Given the description of an element on the screen output the (x, y) to click on. 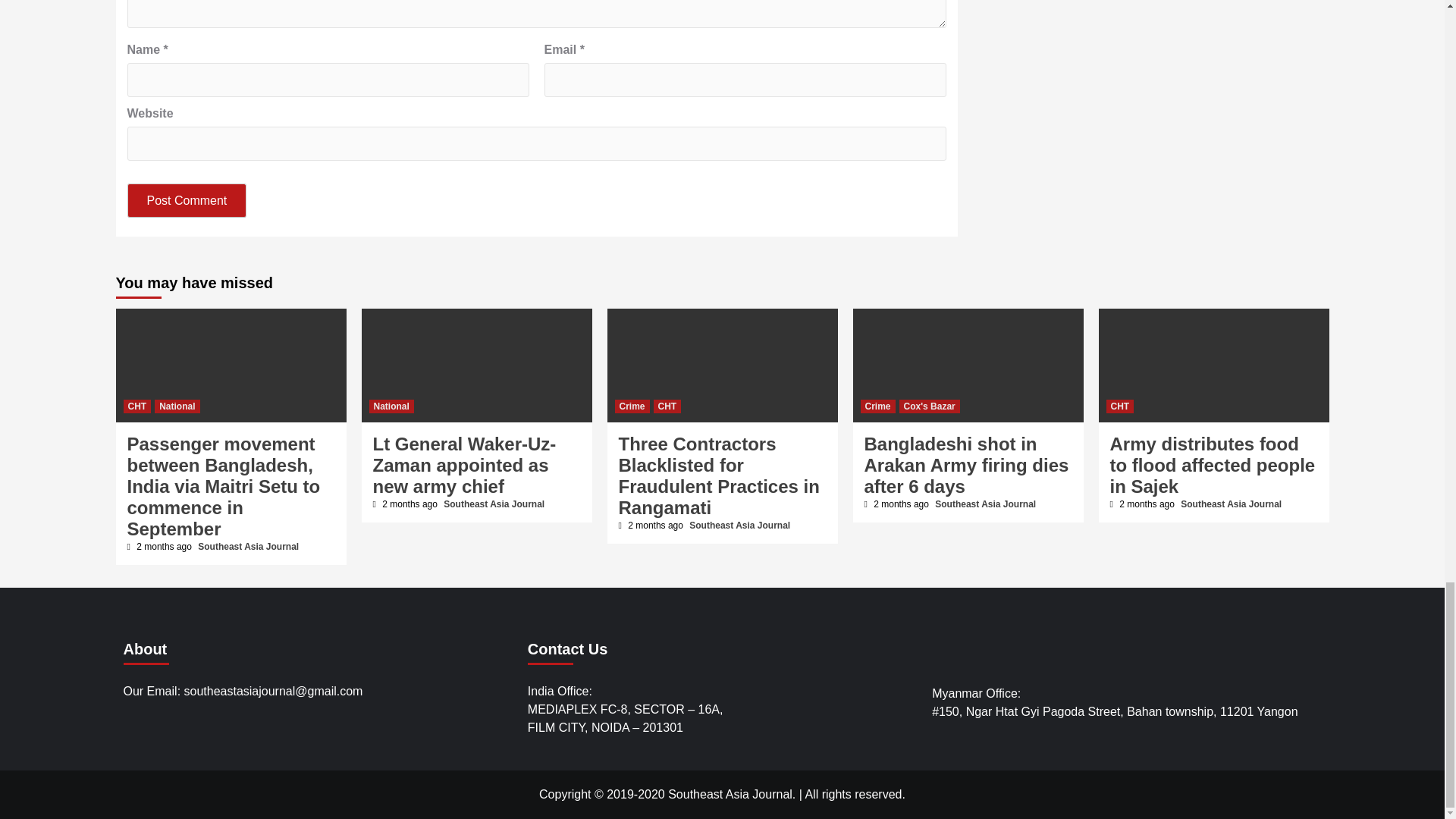
Post Comment (187, 200)
